Given the description of an element on the screen output the (x, y) to click on. 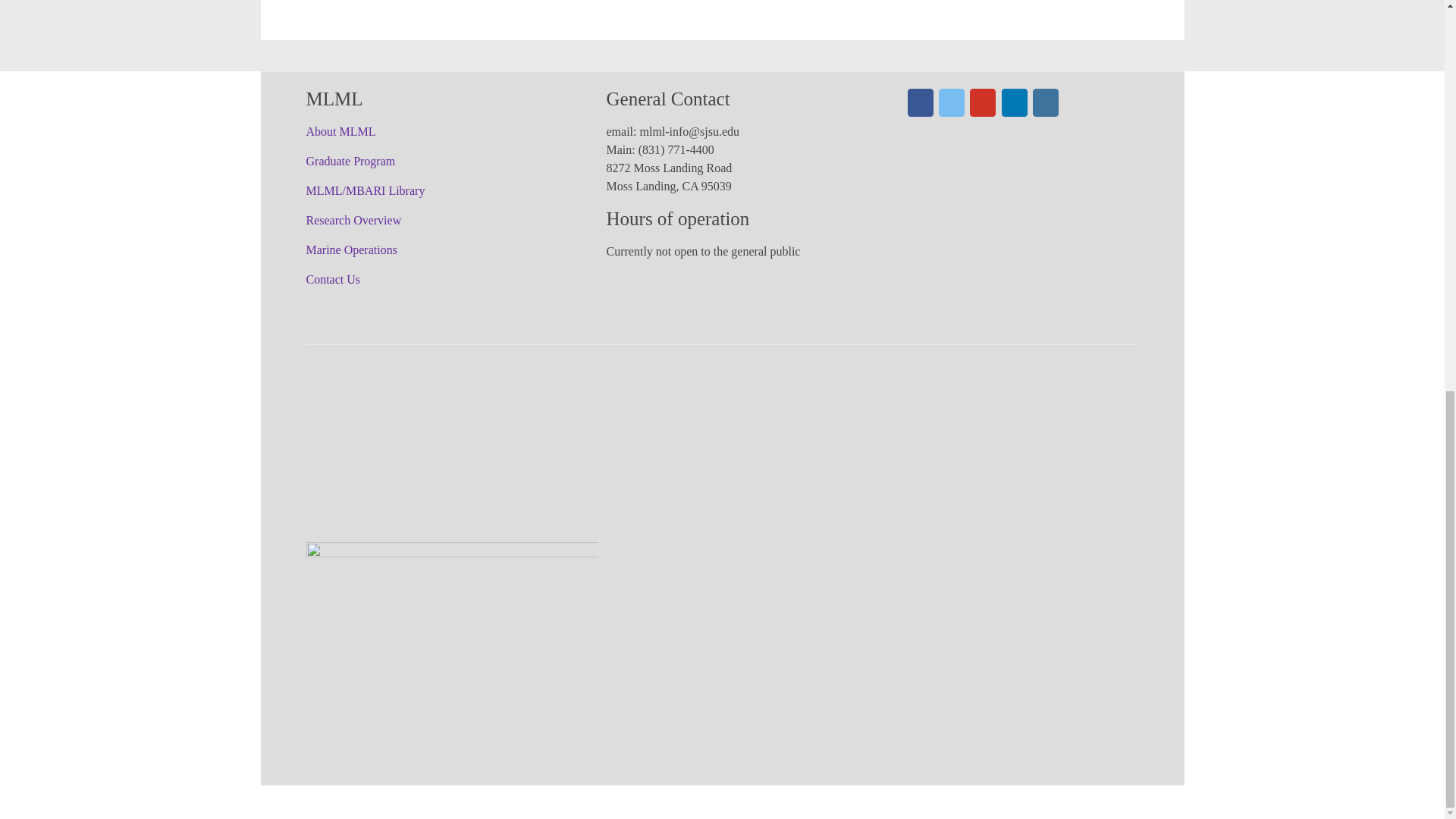
About MLML (340, 131)
Graduate Program (350, 160)
Moss Landing Marine Laboratories on Facebook (920, 102)
Research Overview (353, 219)
Moss Landing Marine Laboratories on Instagram (1045, 102)
San Jose State University: MLML's Administrative Campus (451, 570)
Moss Landing Marine Laboratories on Youtube (982, 102)
Contact Us (333, 278)
Marine Operations (351, 249)
Moss Landing Marine Laboratories on Linkedin (1014, 102)
Moss Landing Marine Laboratories on X Twitter (951, 102)
